Given the description of an element on the screen output the (x, y) to click on. 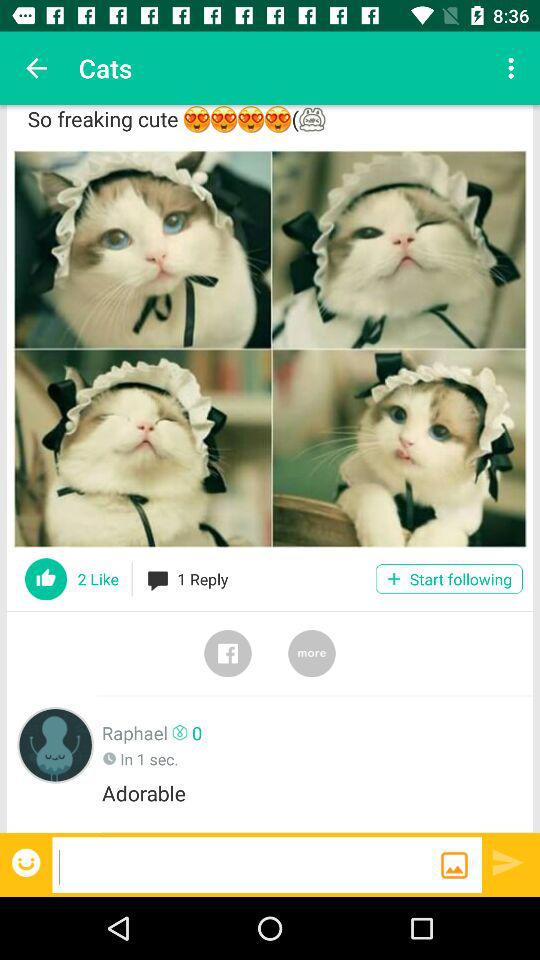
flip to the start following icon (448, 578)
